Given the description of an element on the screen output the (x, y) to click on. 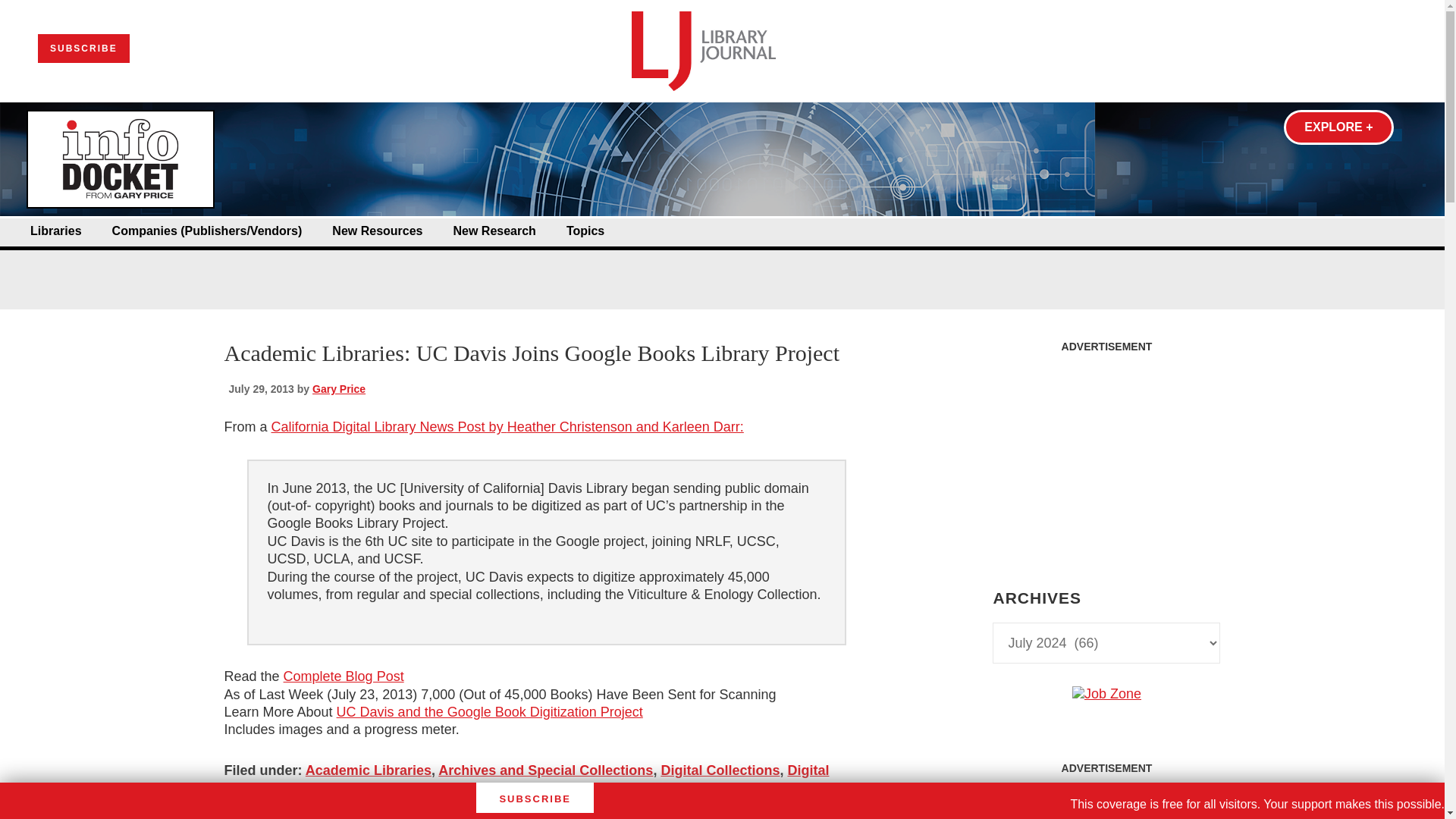
SUBSCRIBE (83, 48)
3rd party ad content (1106, 455)
3rd party ad content (1106, 800)
3rd party ad content (721, 264)
New Resources (376, 231)
Libraries (55, 231)
